Given the description of an element on the screen output the (x, y) to click on. 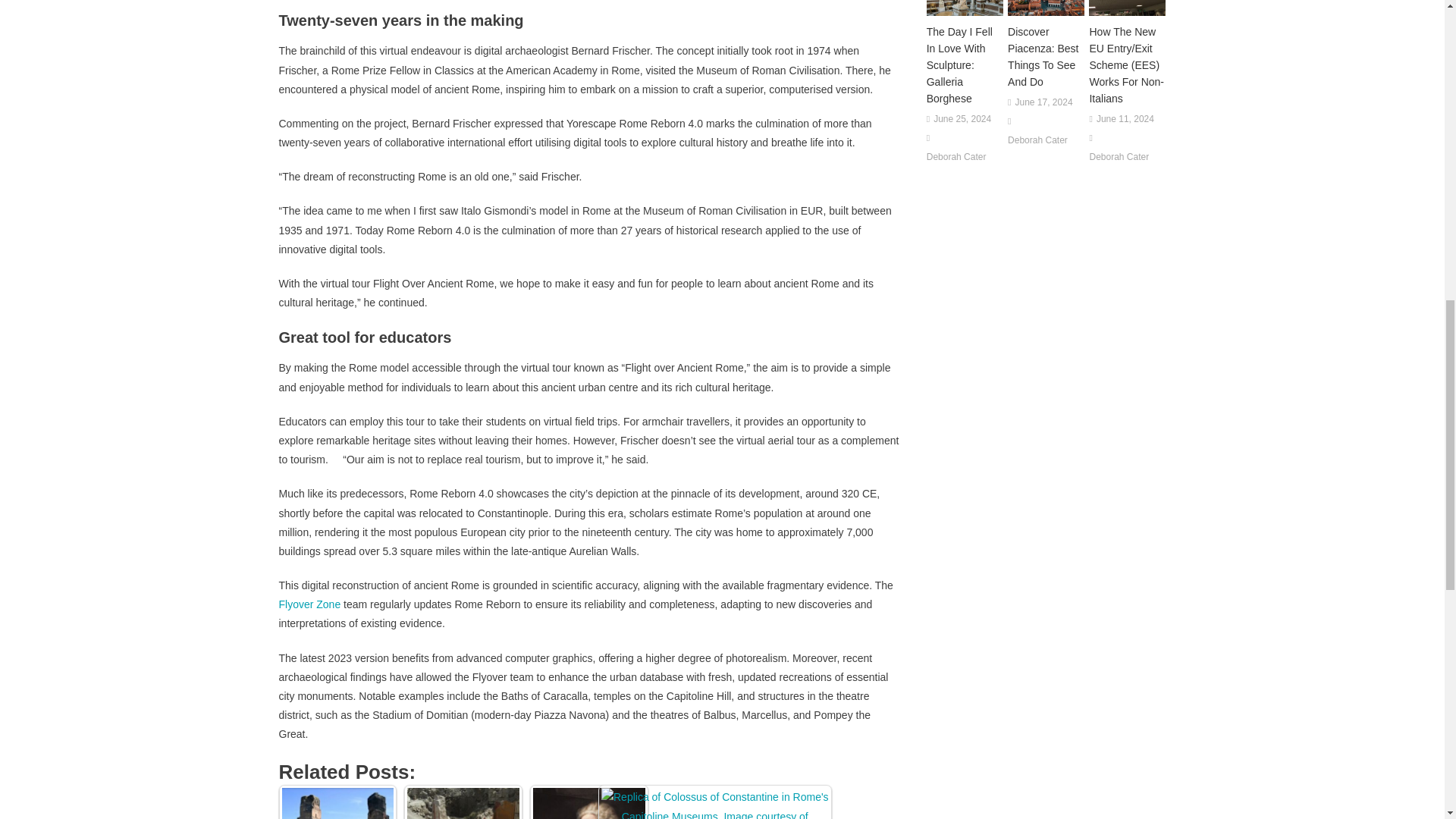
Ancient construction site found at Pompeii (463, 803)
Flyover Zone (309, 604)
Ancient construction site found at Pompeii (462, 802)
Water returns to the Baths of Caracalla (337, 802)
On this day in history: Giovanni Paolo Panini born (589, 802)
Colossus of Constantine on display in Capitoline Museums (714, 803)
Water returns to the Baths of Caracalla (338, 803)
On this day in history: Giovanni Paolo Panini born (588, 803)
